Given the description of an element on the screen output the (x, y) to click on. 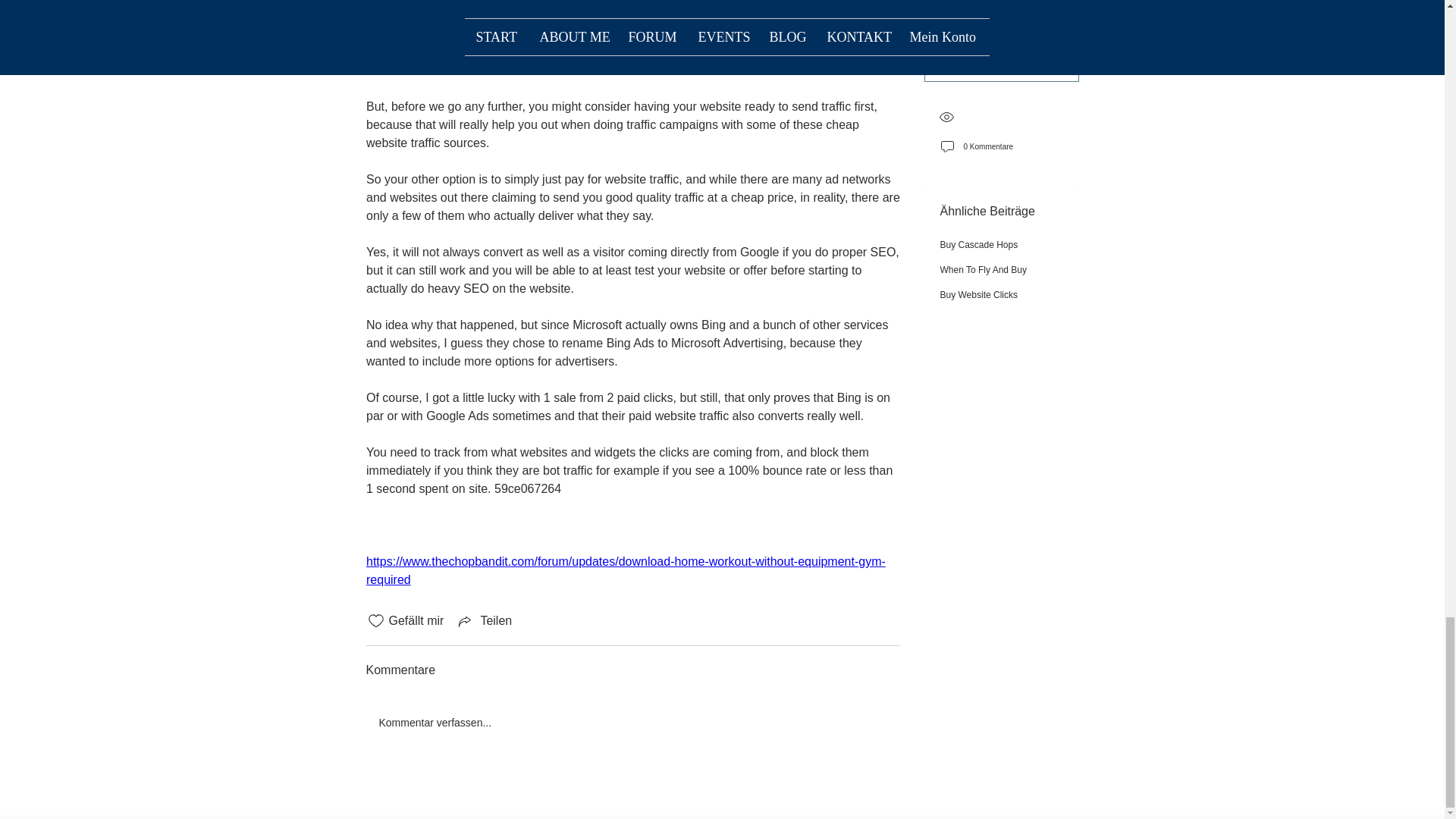
Kommentar verfassen... (632, 722)
Teilen (483, 620)
